Given the description of an element on the screen output the (x, y) to click on. 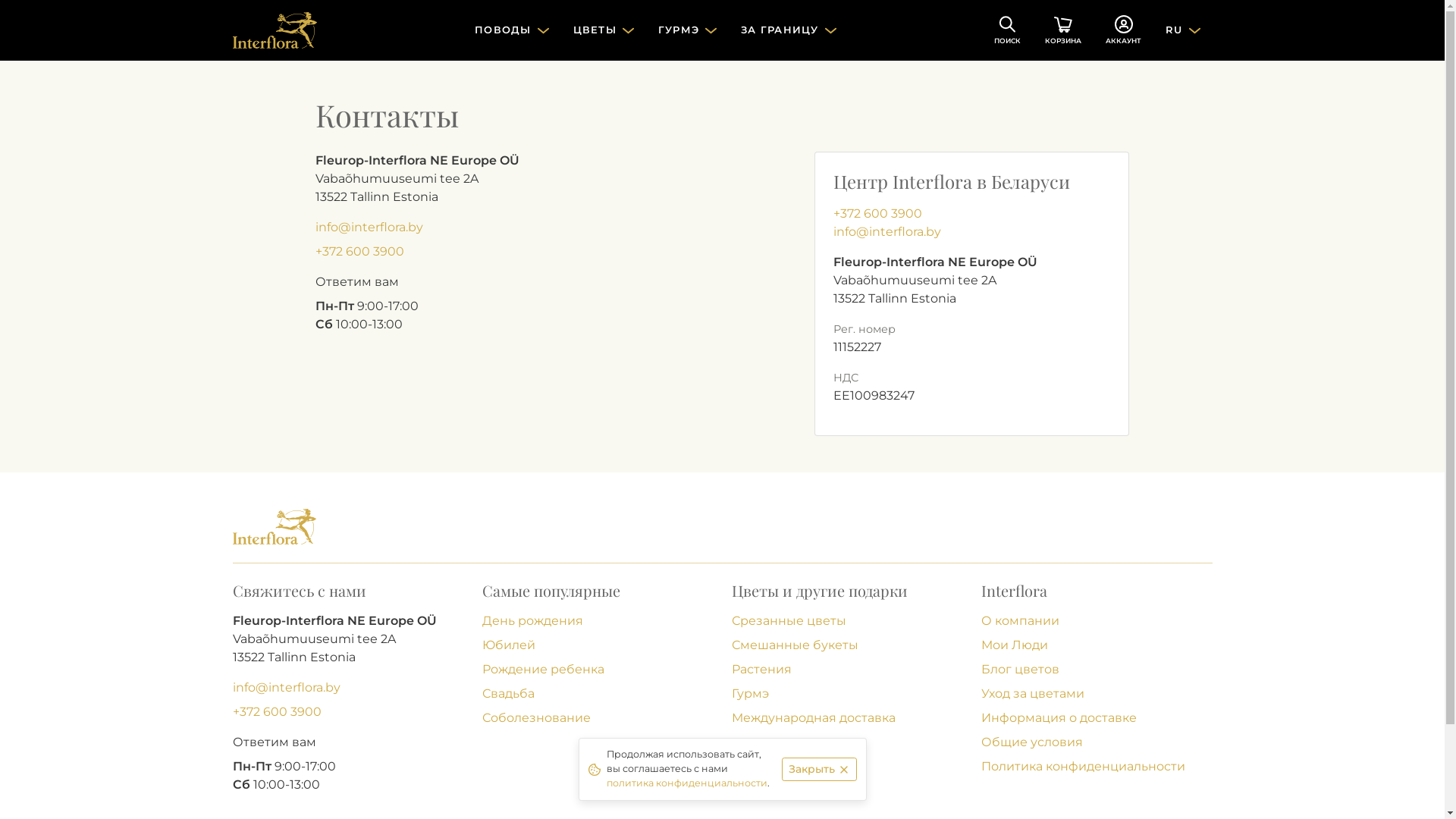
info@interflora.by Element type: text (285, 687)
+372 600 3900 Element type: text (359, 251)
+372 600 3900 Element type: text (276, 711)
info@interflora.by Element type: text (369, 226)
info@interflora.by Element type: text (887, 231)
RU Element type: text (1182, 30)
+372 600 3900 Element type: text (877, 213)
